Given the description of an element on the screen output the (x, y) to click on. 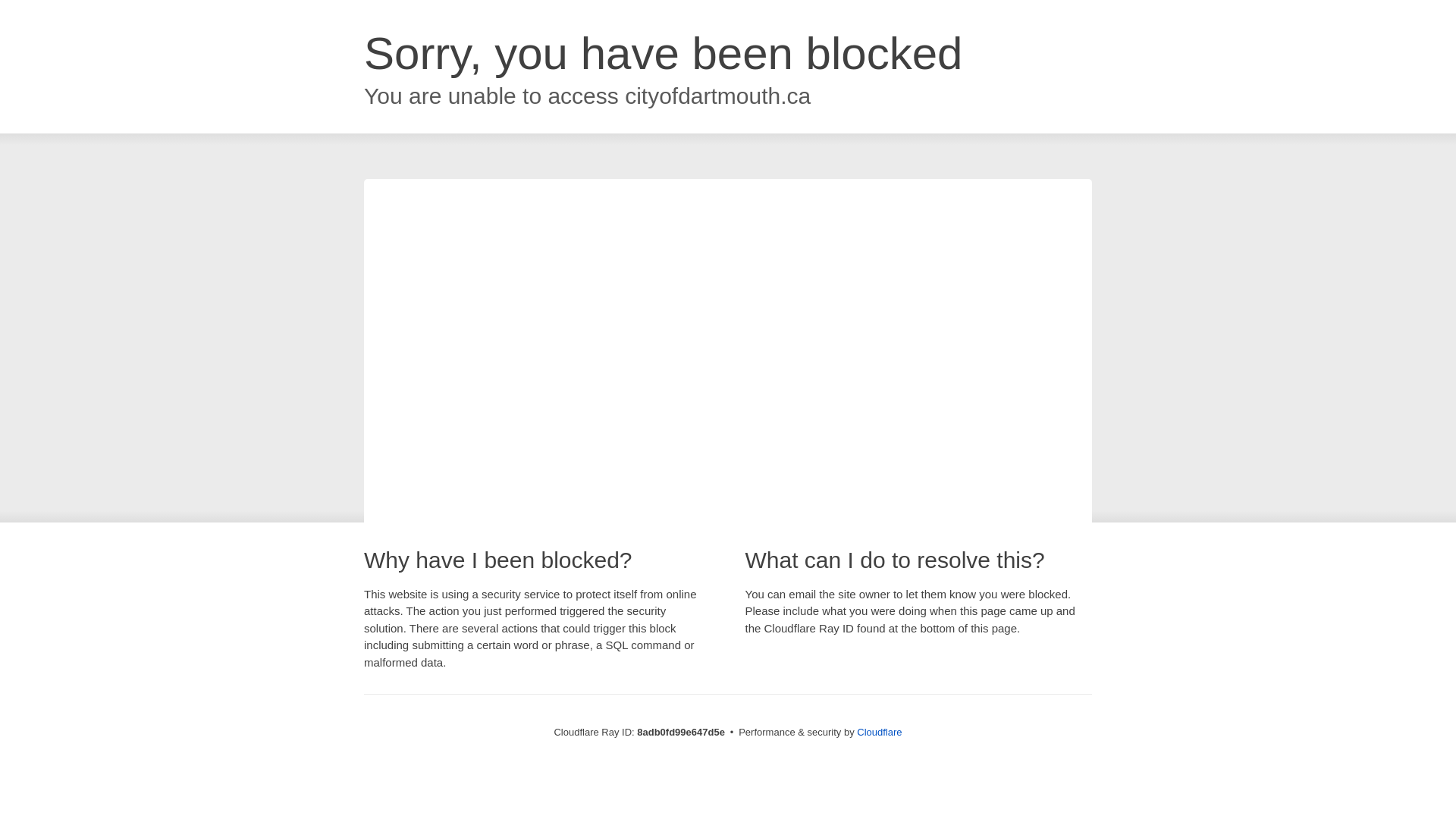
Cloudflare (879, 731)
